Given the description of an element on the screen output the (x, y) to click on. 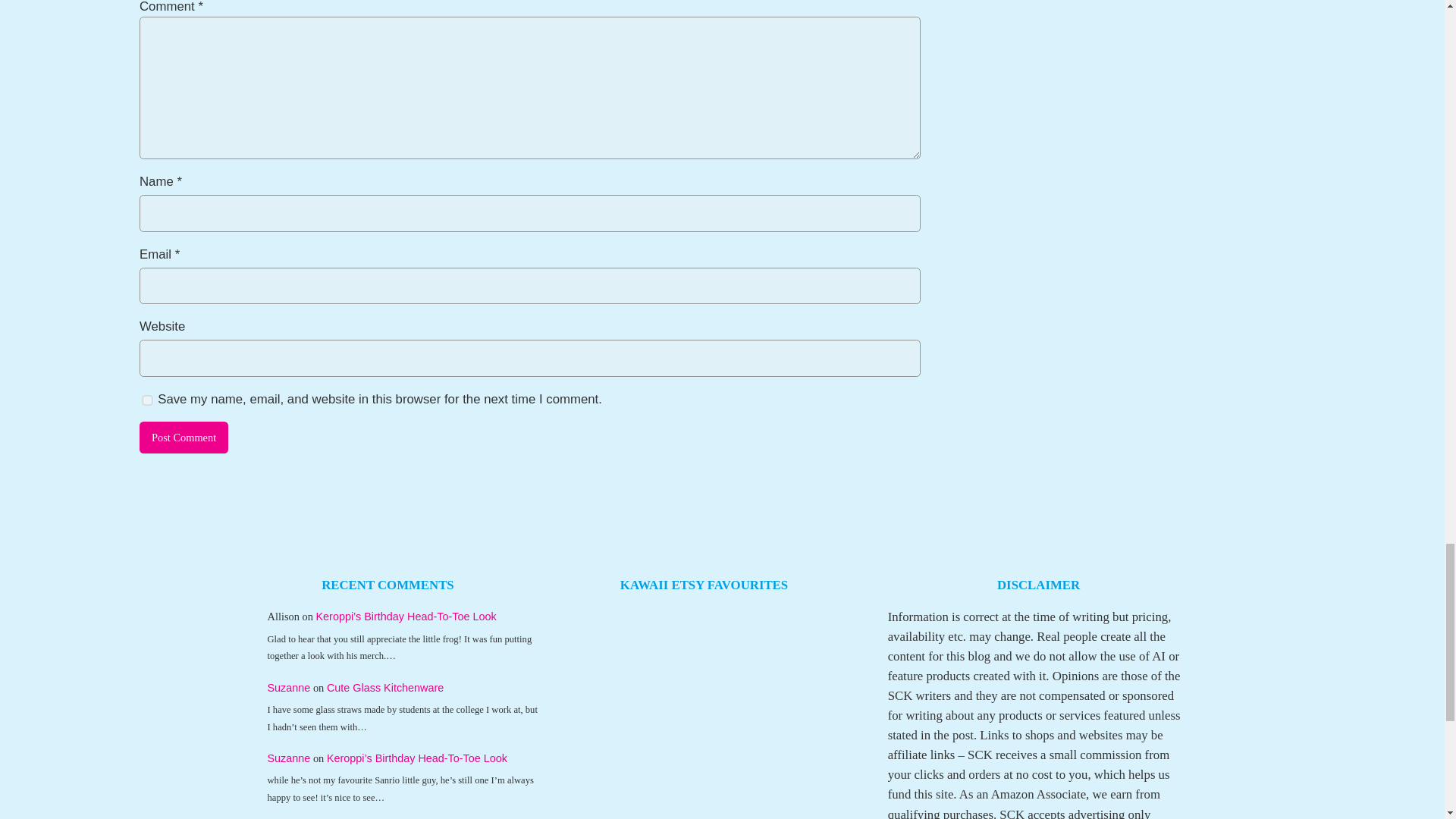
Post Comment (183, 437)
